Given the description of an element on the screen output the (x, y) to click on. 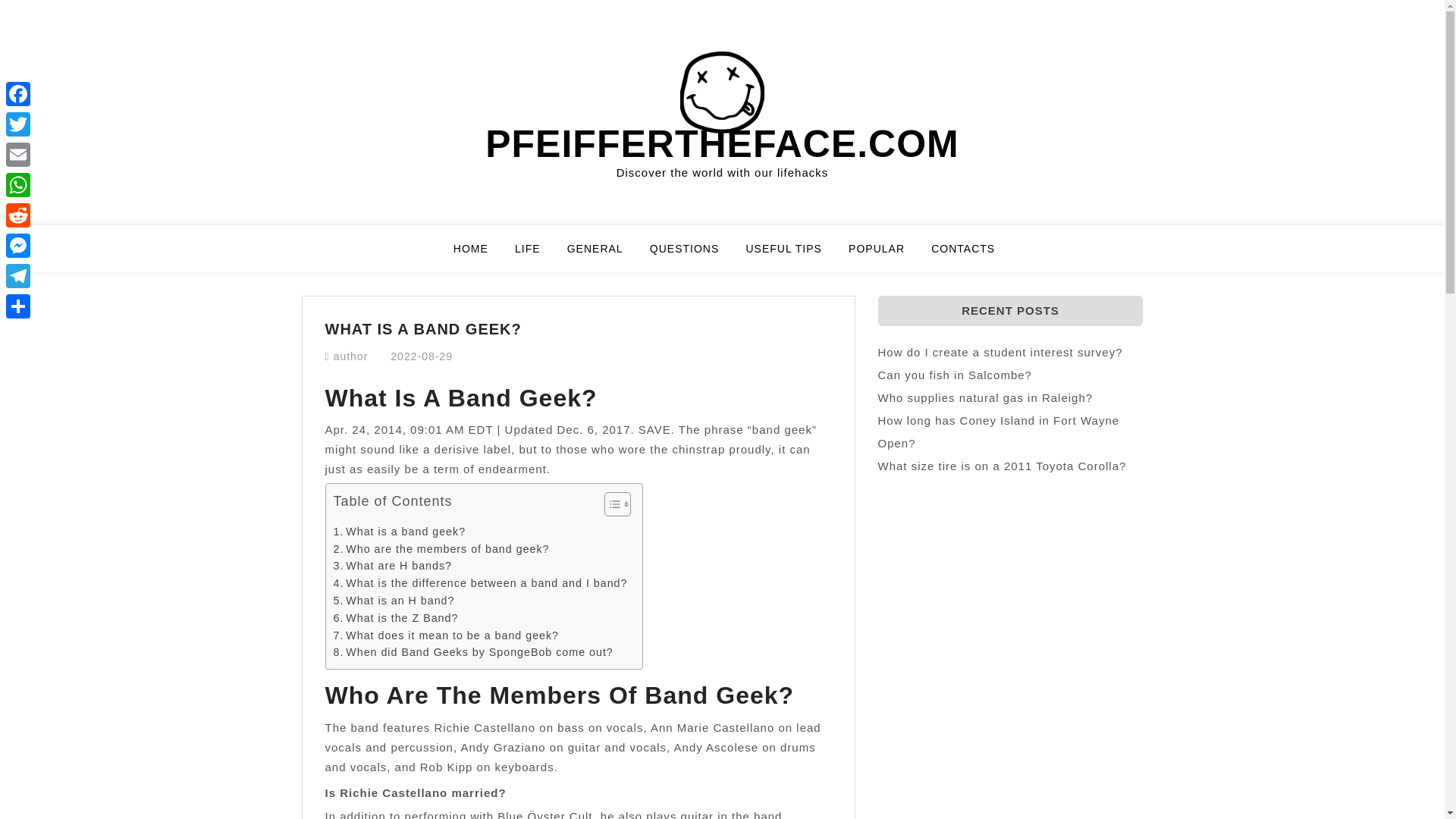
USEFUL TIPS (792, 255)
Who are the members of band geek? (441, 548)
What is the Z Band? (395, 618)
QUESTIONS (693, 255)
When did Band Geeks by SpongeBob come out? (472, 651)
What is an H band? (393, 600)
LIFE (537, 255)
What is the Z Band? (395, 618)
PFEIFFERTHEFACE.COM (721, 143)
Reddit (17, 214)
GENERAL (604, 255)
Who are the members of band geek? (441, 548)
WhatsApp (17, 184)
Twitter (17, 123)
What are H bands? (392, 565)
